Given the description of an element on the screen output the (x, y) to click on. 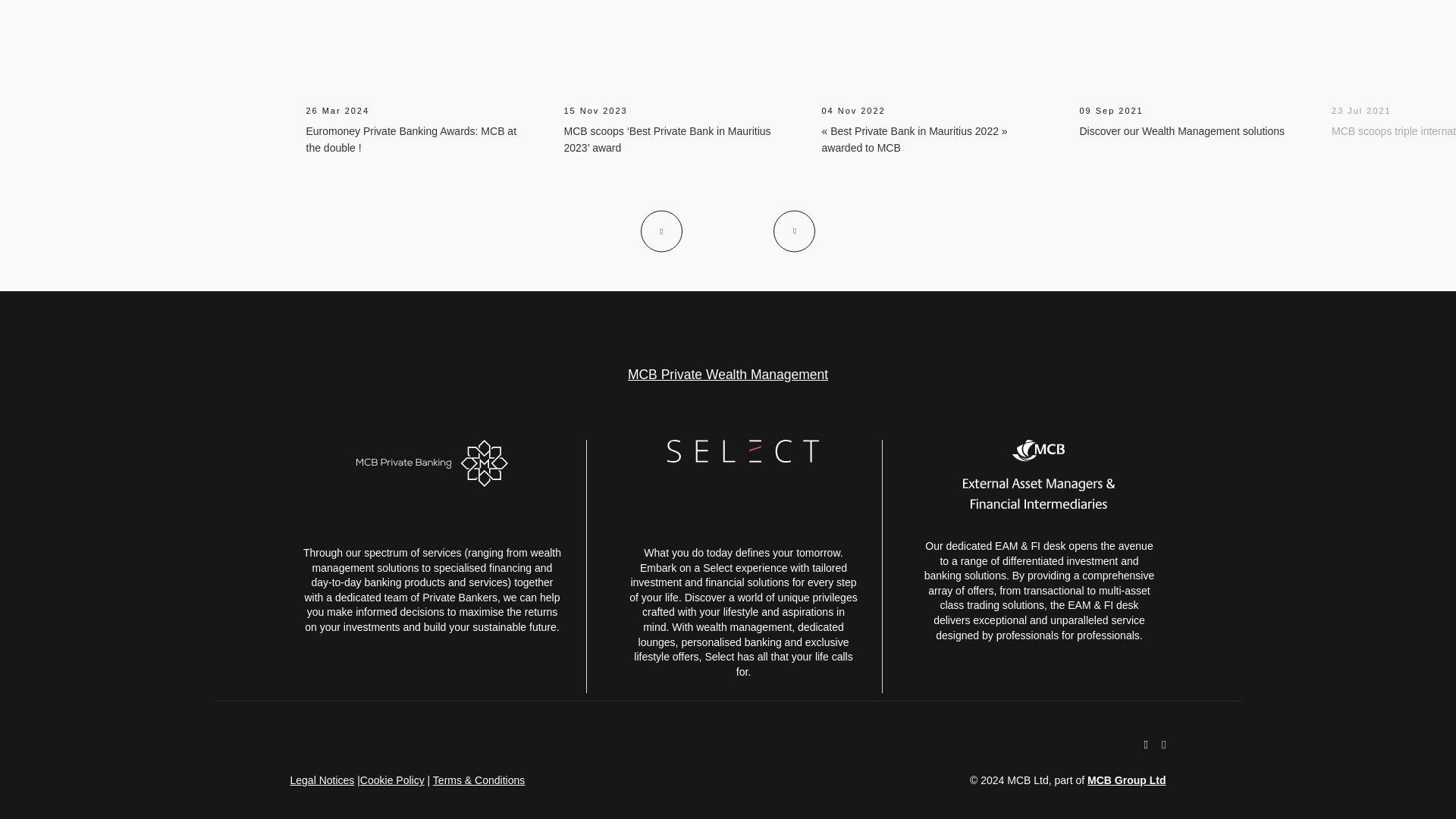
Discover our Wealth Management solutions (1182, 131)
Euromoney Private Banking Awards: MCB at the double ! (410, 139)
